Given the description of an element on the screen output the (x, y) to click on. 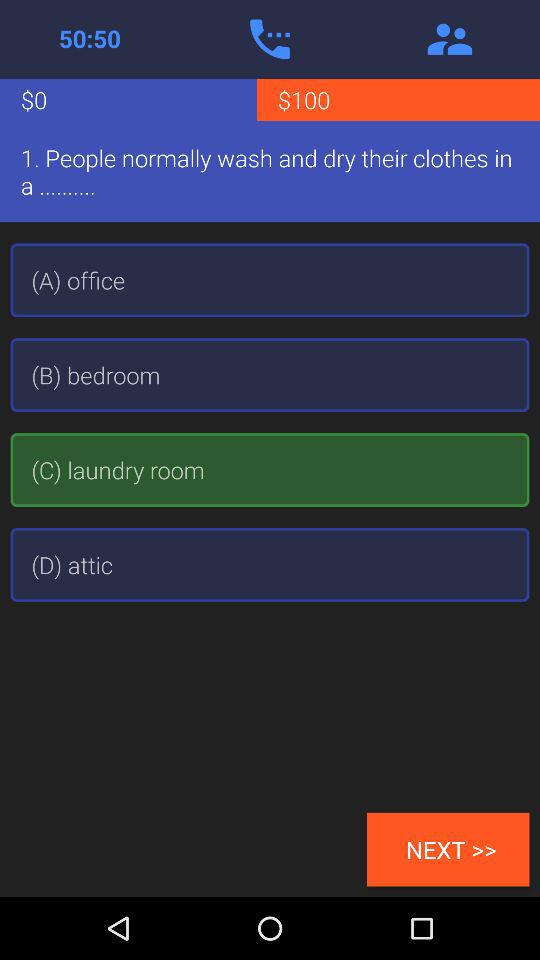
turn on the app above the (c) laundry room app (269, 375)
